Given the description of an element on the screen output the (x, y) to click on. 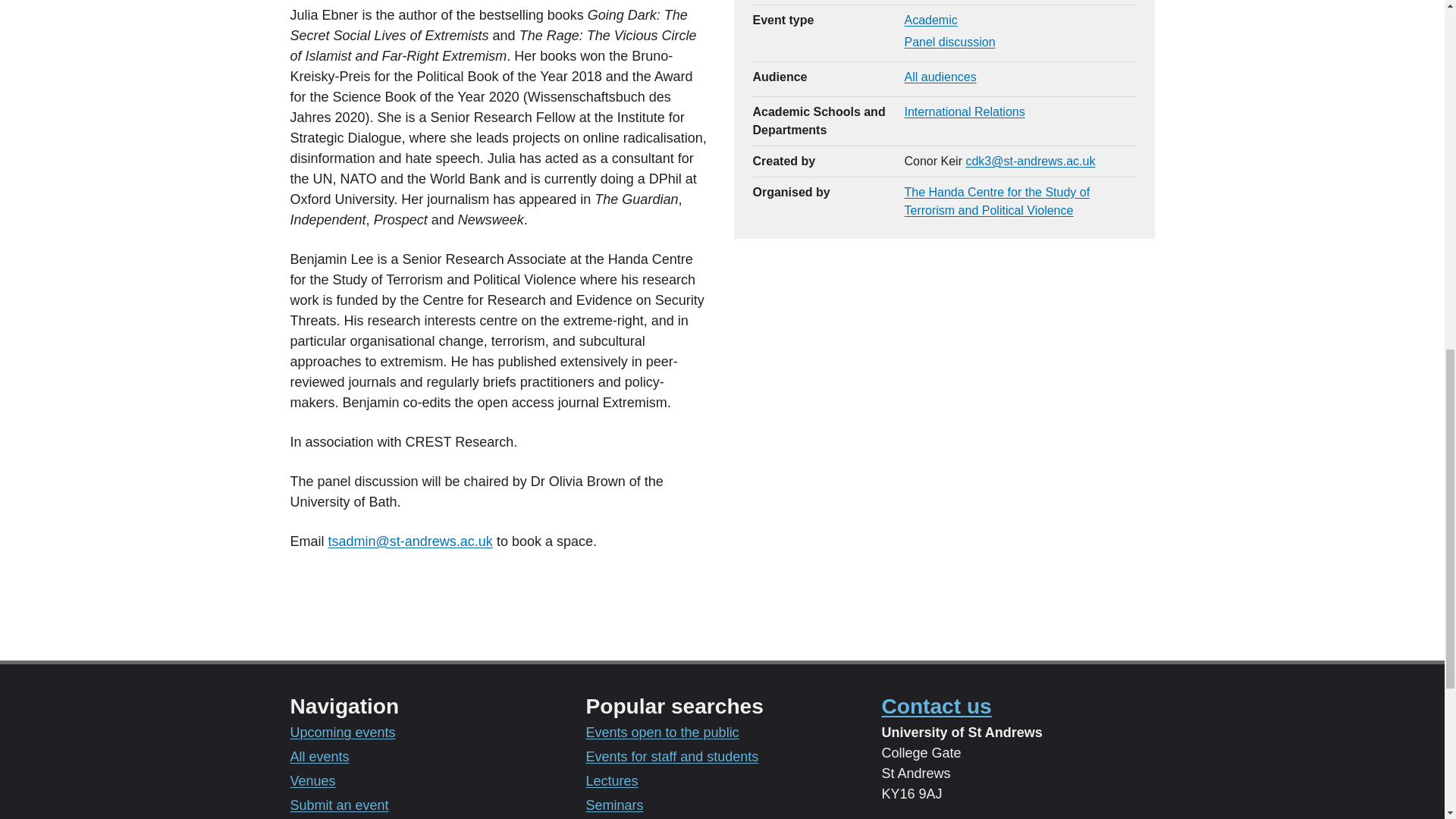
Submit an event (338, 805)
All events (319, 756)
Panel discussion (949, 42)
Seminars (614, 805)
Events open to the public (661, 732)
All audiences (939, 76)
International Relations (964, 111)
Lectures (611, 780)
Upcoming events (341, 732)
